Given the description of an element on the screen output the (x, y) to click on. 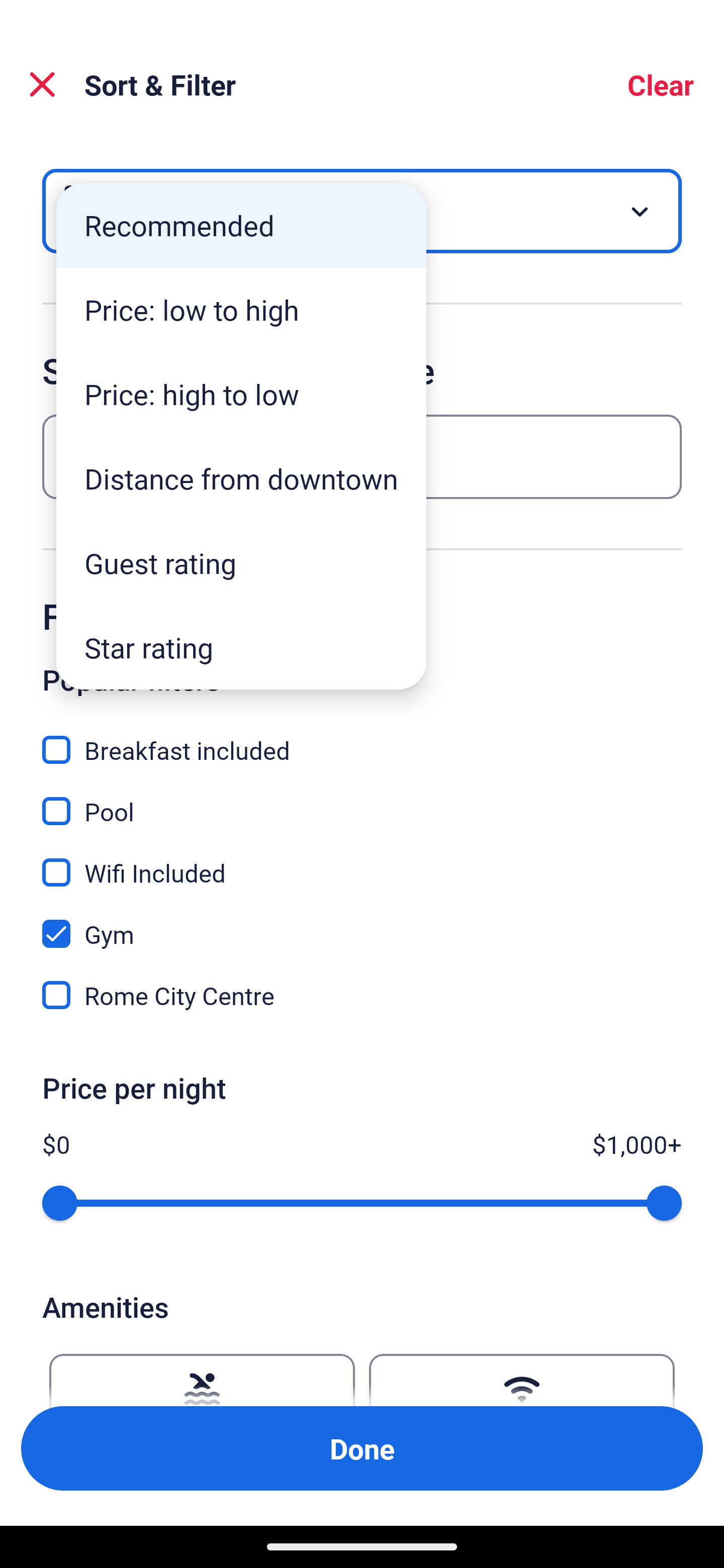
Price: low to high (241, 309)
Price: high to low (241, 393)
Distance from downtown (241, 477)
Guest rating (241, 562)
Star rating (241, 647)
